Given the description of an element on the screen output the (x, y) to click on. 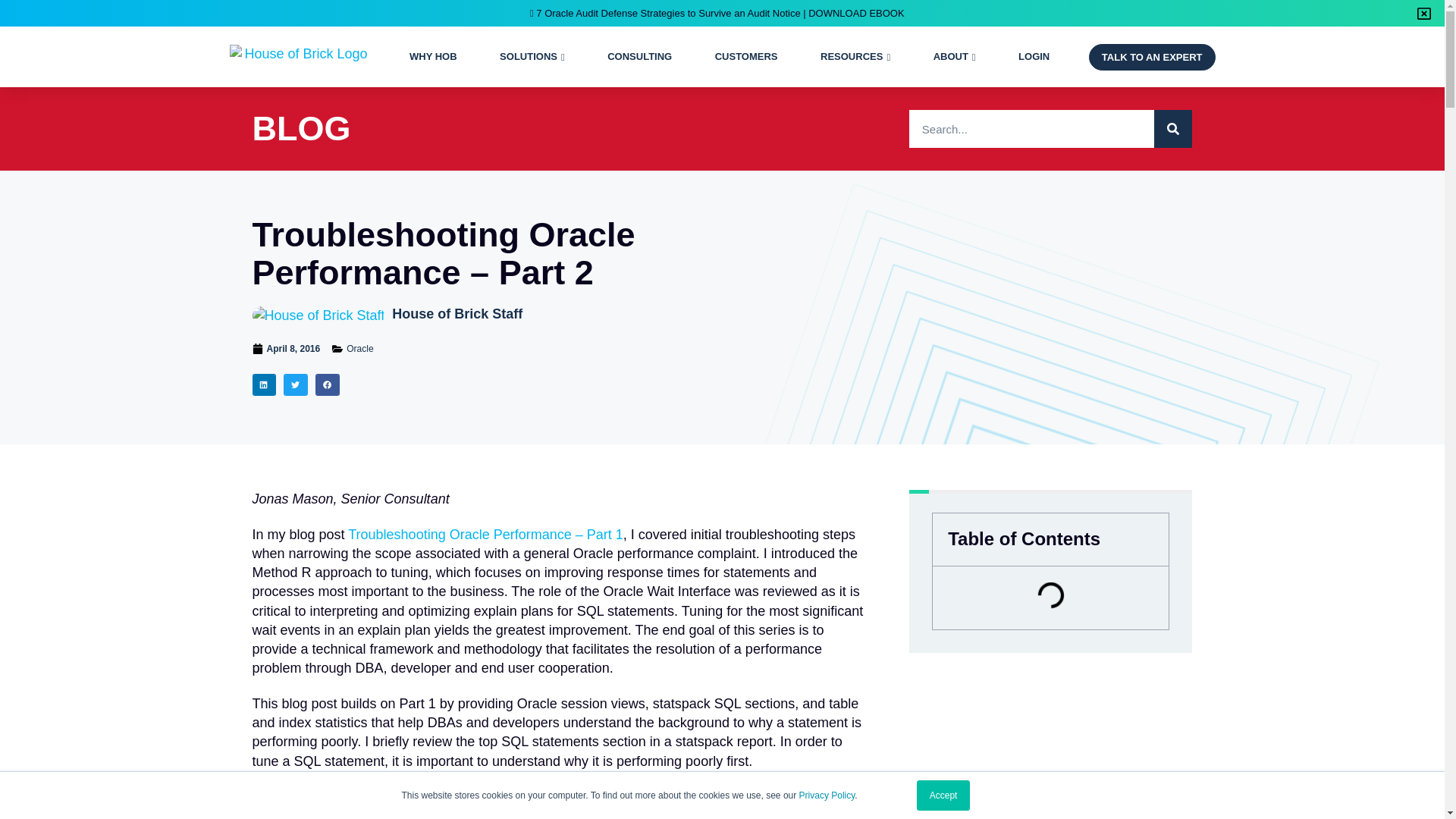
WHY HOB (433, 57)
CONSULTING (639, 57)
SOLUTIONS (528, 57)
CUSTOMERS (745, 57)
Accept (944, 795)
RESOURCES (851, 57)
Privacy Policy (827, 795)
